Given the description of an element on the screen output the (x, y) to click on. 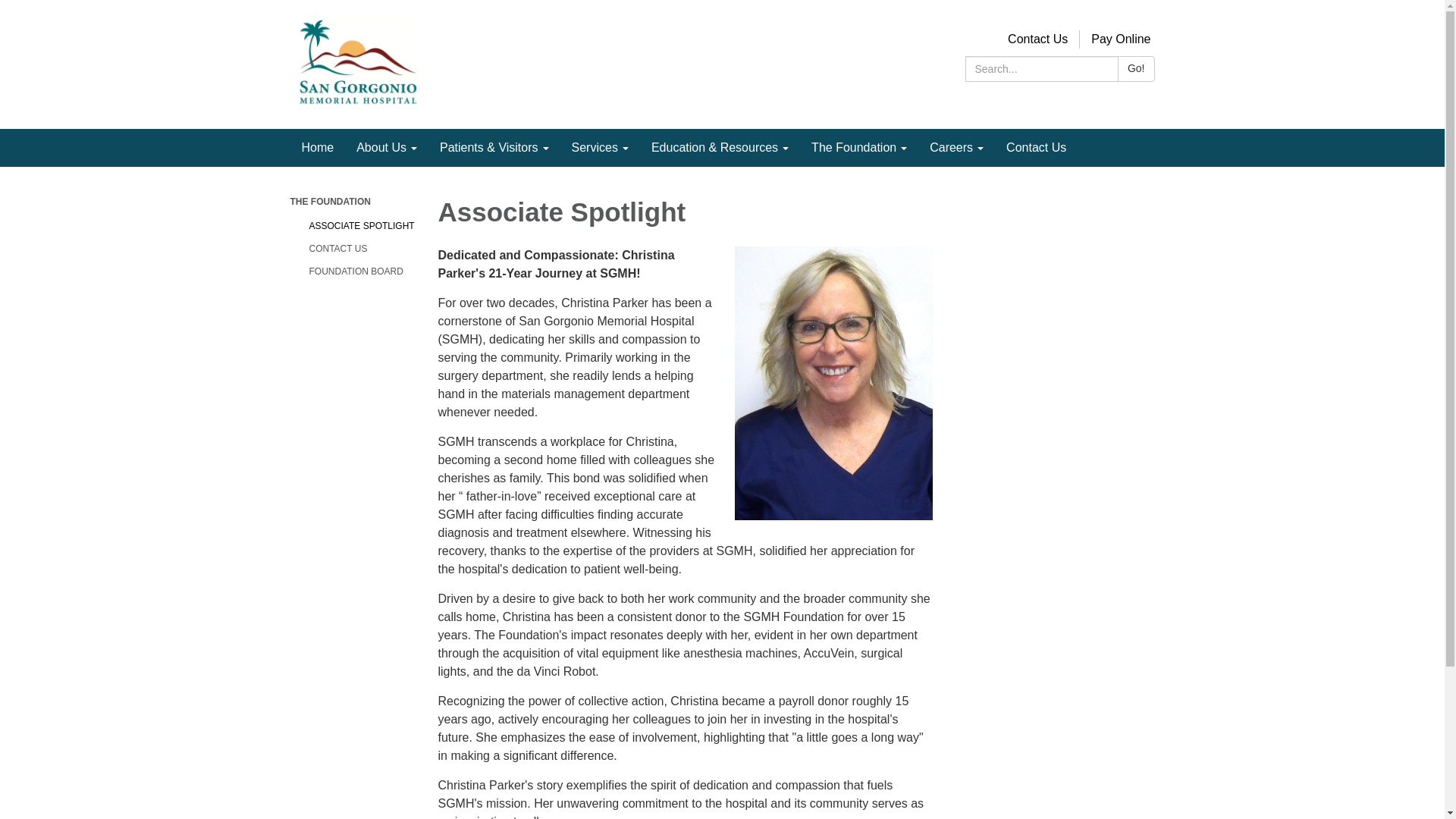
Services (600, 147)
Pay Online (1120, 38)
Go! (1136, 68)
About Us (386, 147)
Contact Us (1036, 38)
Home (317, 147)
